Given the description of an element on the screen output the (x, y) to click on. 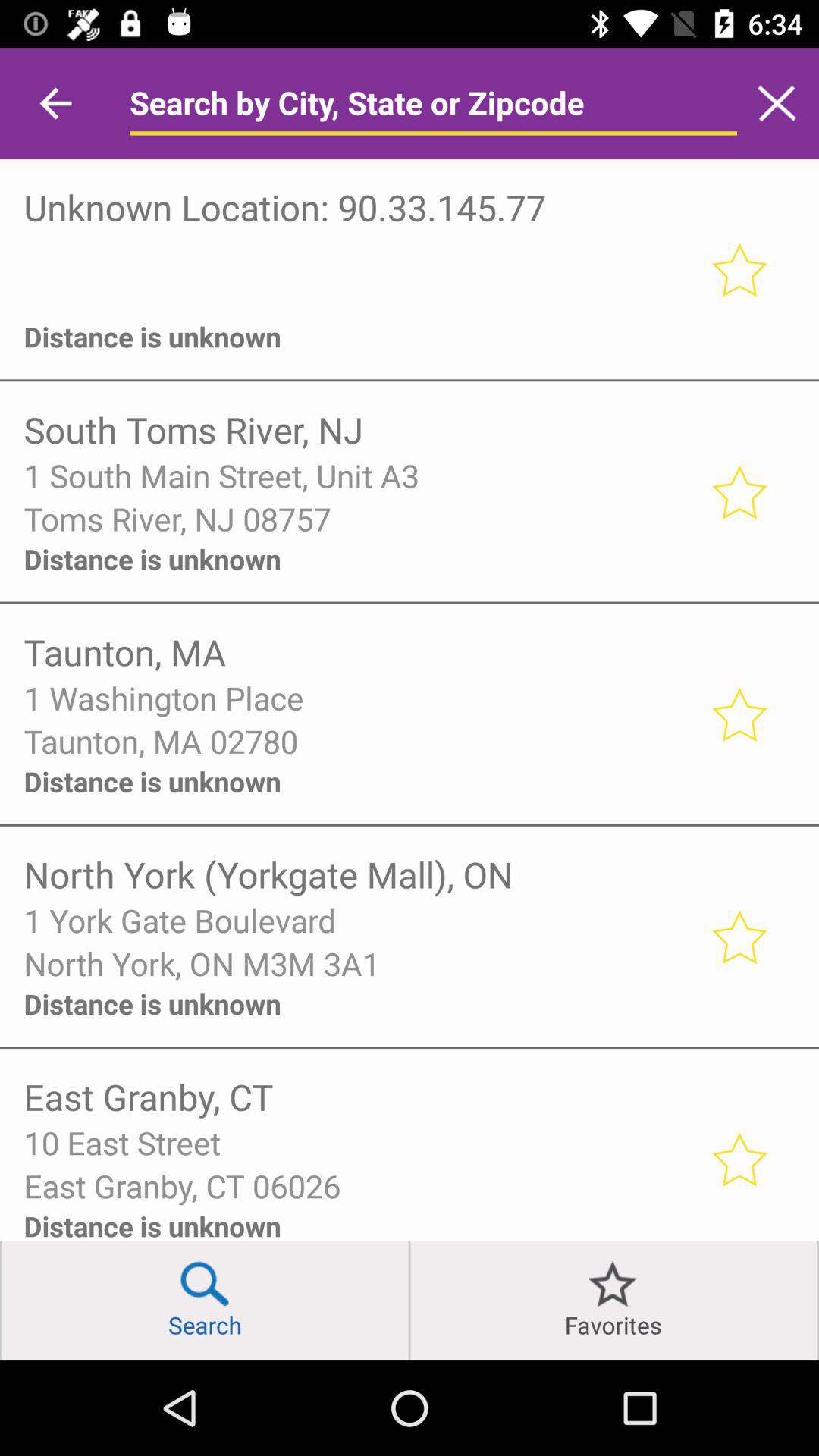
swipe to 1 south main item (356, 475)
